Given the description of an element on the screen output the (x, y) to click on. 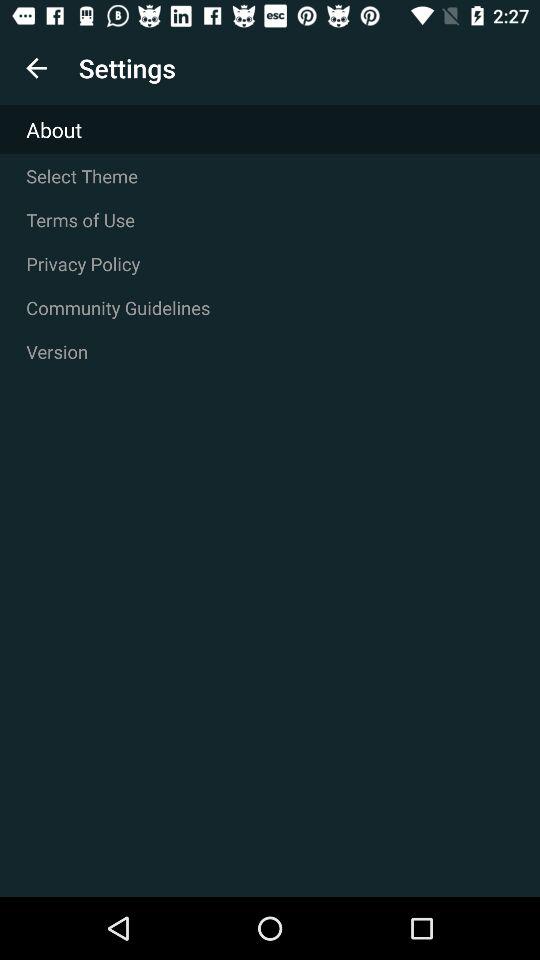
flip to version item (270, 351)
